Given the description of an element on the screen output the (x, y) to click on. 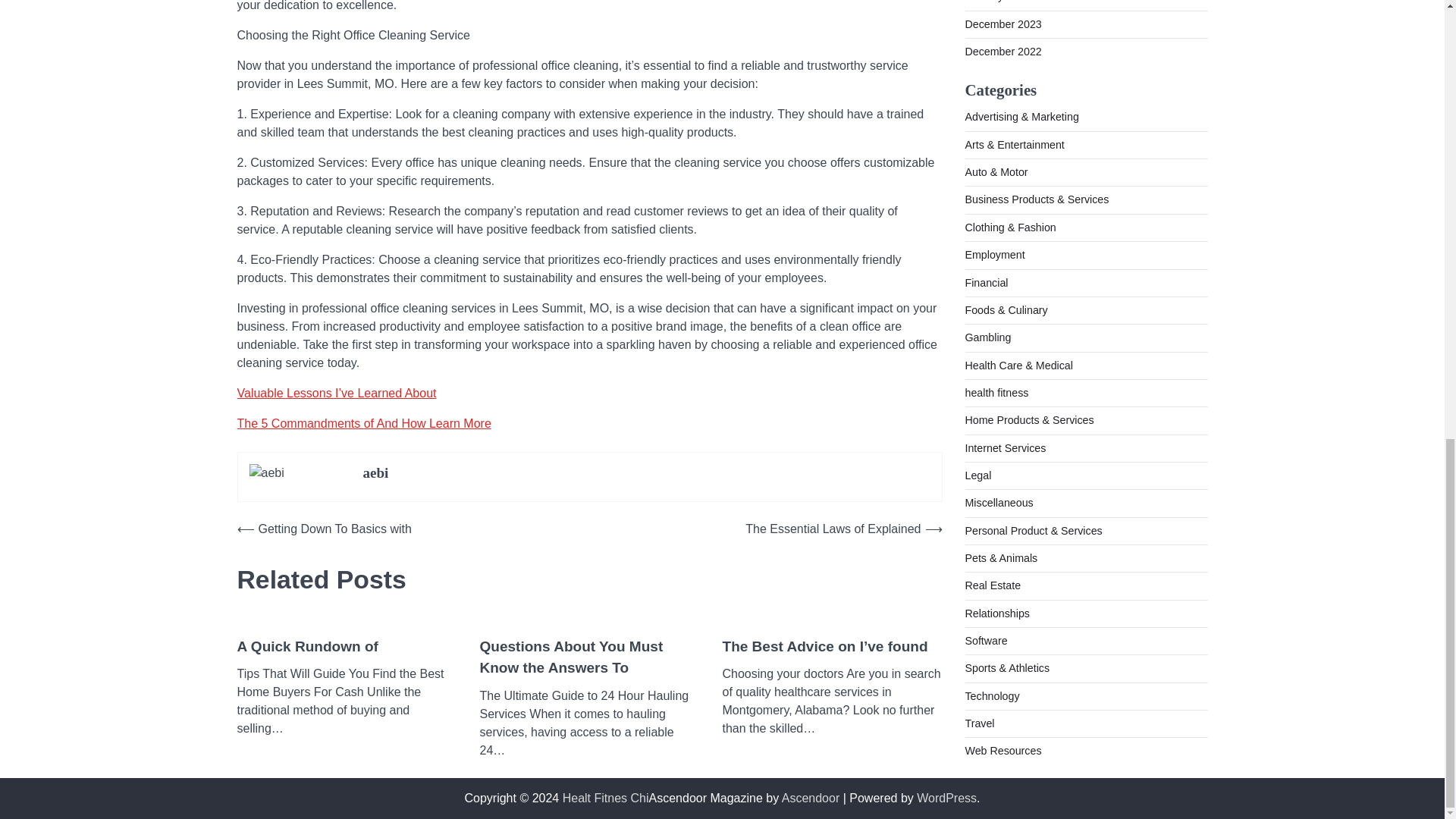
The 5 Commandments of And How Learn More (362, 422)
Financial (985, 32)
Gambling (986, 87)
Questions About You Must Know the Answers To (588, 657)
Employment (994, 5)
A Quick Rundown of (306, 647)
